Given the description of an element on the screen output the (x, y) to click on. 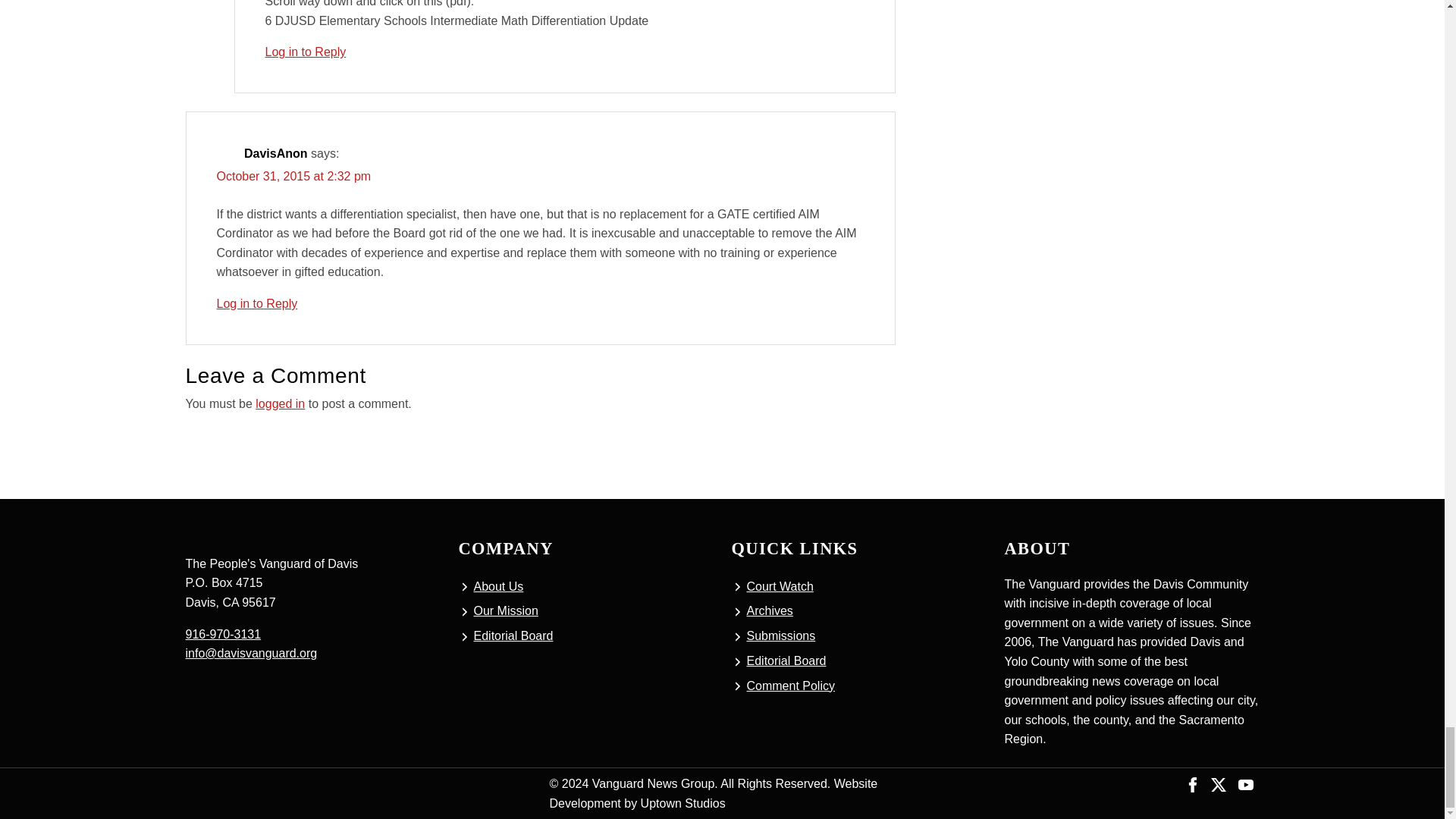
Twitter (1218, 783)
Facebook (1192, 783)
YouTube (1245, 783)
